Given the description of an element on the screen output the (x, y) to click on. 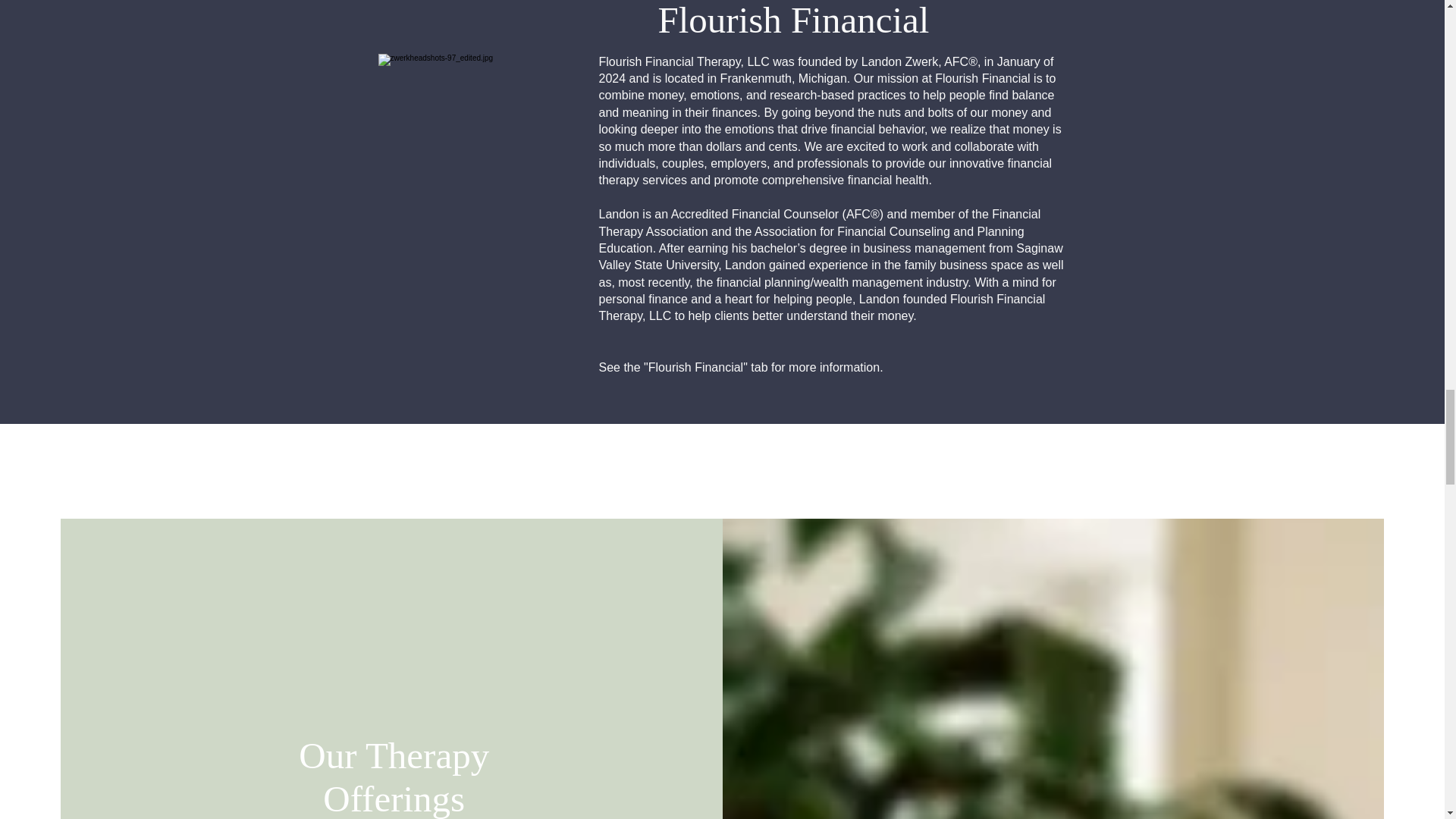
zwerkheadshots-97.jpg (476, 202)
